Given the description of an element on the screen output the (x, y) to click on. 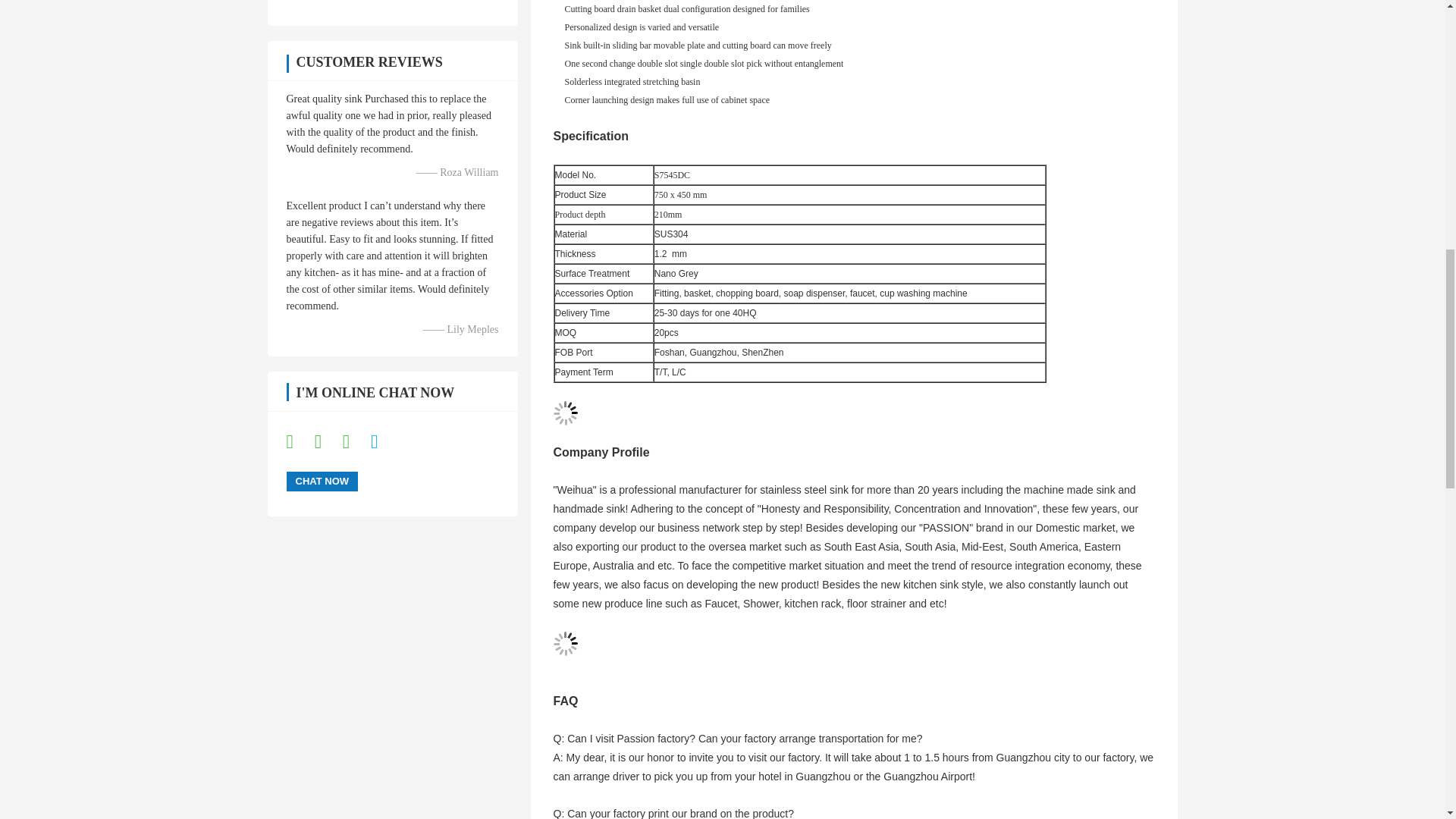
Chat Now (322, 481)
